Given the description of an element on the screen output the (x, y) to click on. 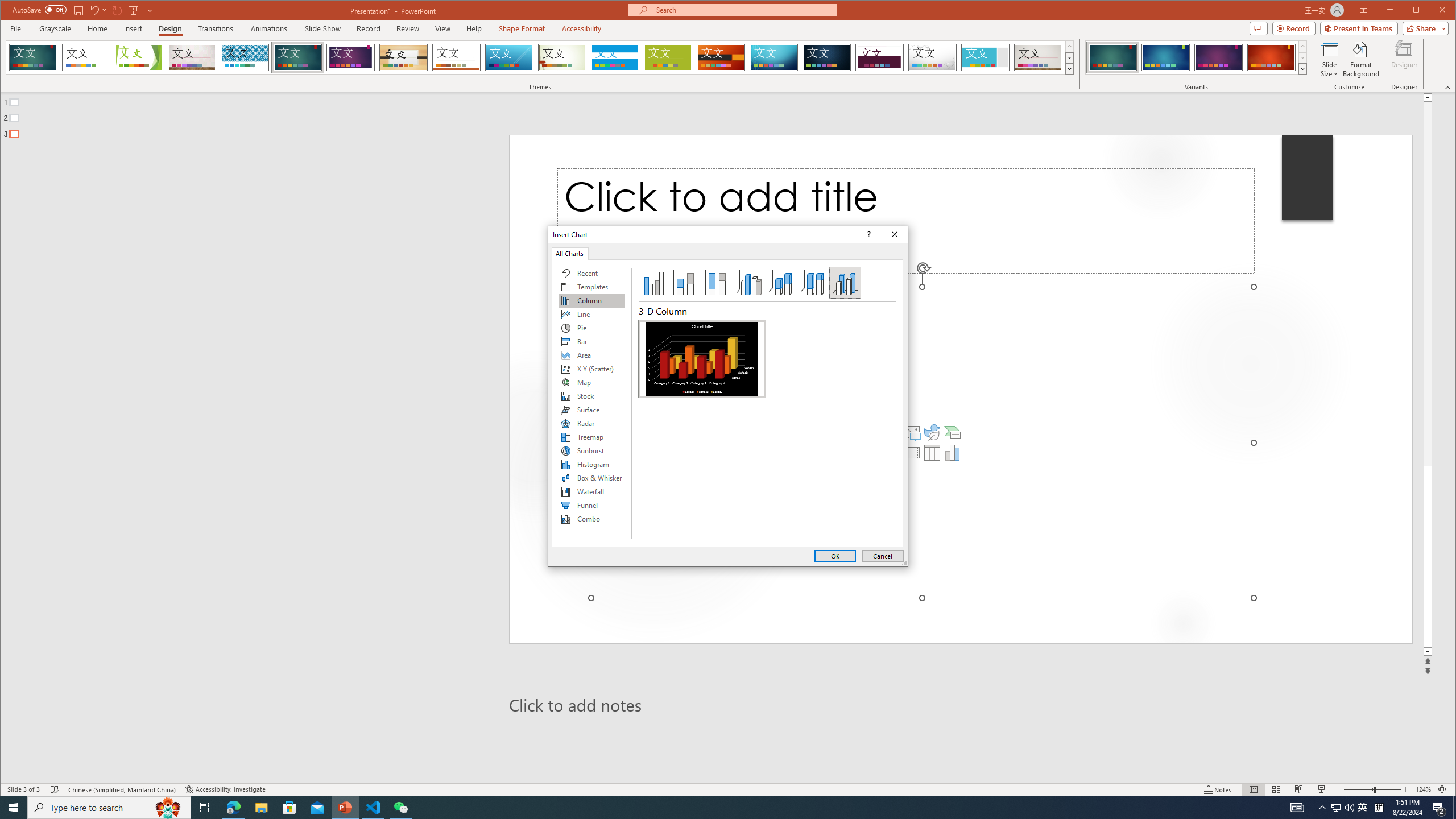
Funnel (591, 505)
Waterfall (591, 491)
Ion Variant 2 (1165, 57)
3-D Clustered Column (749, 282)
